Given the description of an element on the screen output the (x, y) to click on. 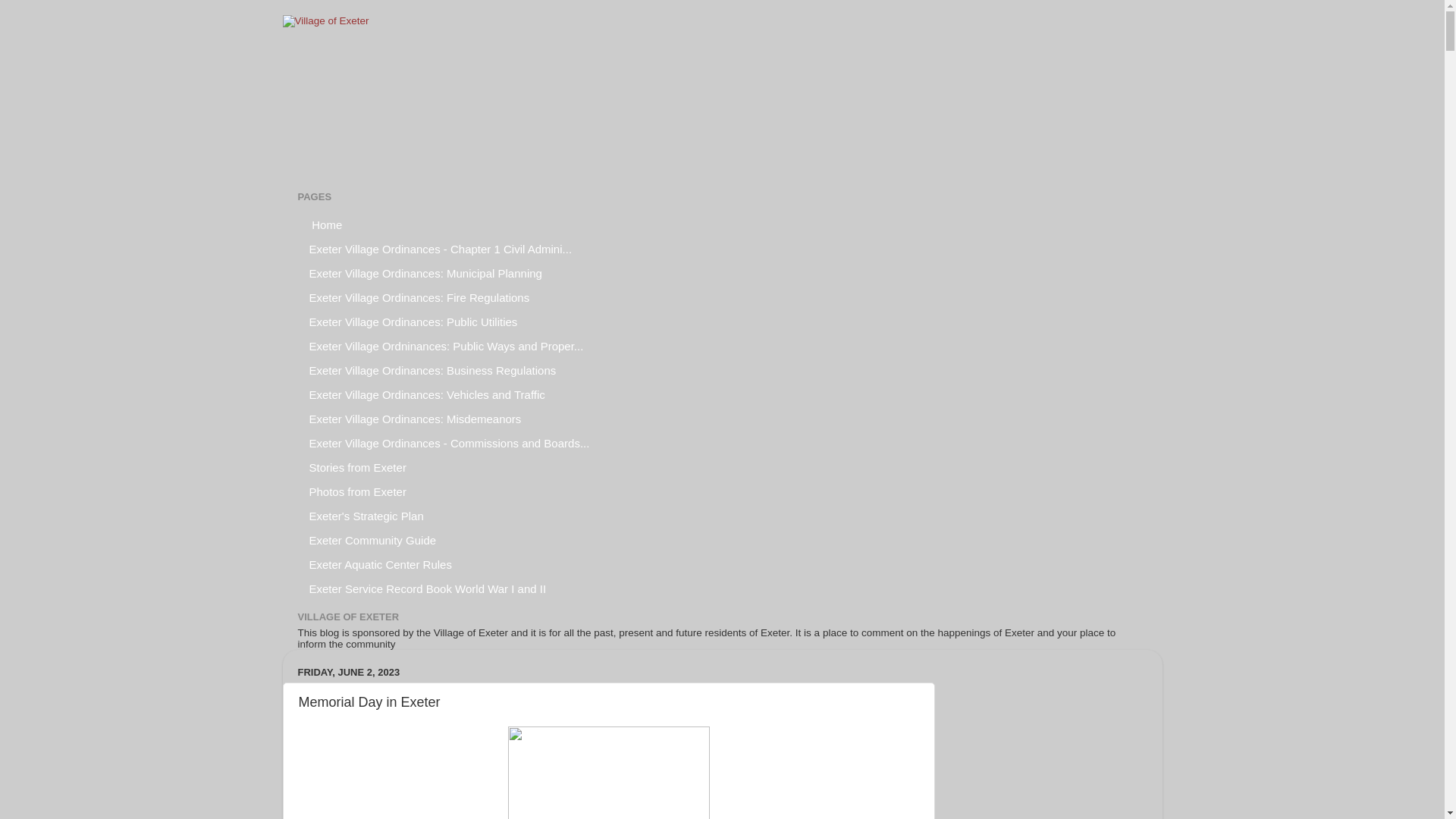
Exeter's Strategic Plan (366, 515)
Exeter Community Guide (372, 539)
Exeter Village Ordinances: Fire Regulations (419, 297)
Exeter Aquatic Center Rules (380, 564)
Exeter Village Ordinances: Business Regulations (432, 369)
Exeter Village Ordinances: Public Utilities (413, 321)
Home (325, 224)
Exeter Village Ordinances - Commissions and Boards... (449, 442)
Exeter Village Ordinances: Misdemeanors (414, 418)
Exeter Village Ordninances: Public Ways and Proper... (446, 345)
Exeter Village Ordinances: Vehicles and Traffic (426, 394)
Stories from Exeter (357, 467)
Exeter Village Ordinances: Municipal Planning (425, 273)
Exeter Service Record Book World War I and II (427, 588)
Exeter Village Ordinances - Chapter 1 Civil Admini... (440, 248)
